Given the description of an element on the screen output the (x, y) to click on. 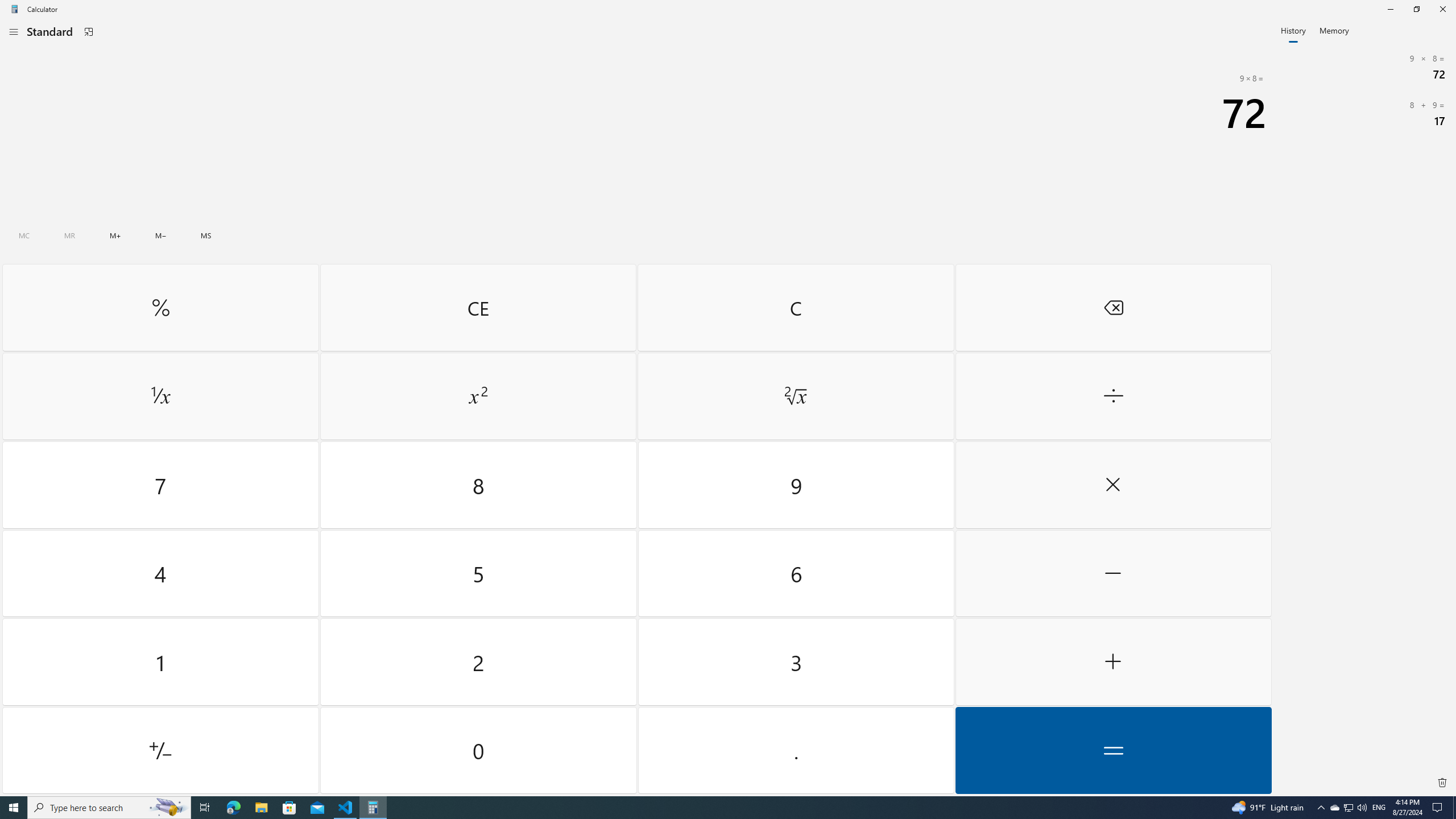
Running applications (706, 807)
Keep on top (88, 31)
Show desktop (1454, 807)
Memory recall (69, 235)
Nine (795, 485)
Clear (795, 307)
Clear all history (1347, 807)
Zero (1441, 782)
Minimize Calculator (478, 749)
Close Calculator (1390, 9)
Eight (1442, 9)
Action Center, No new notifications (478, 485)
